Given the description of an element on the screen output the (x, y) to click on. 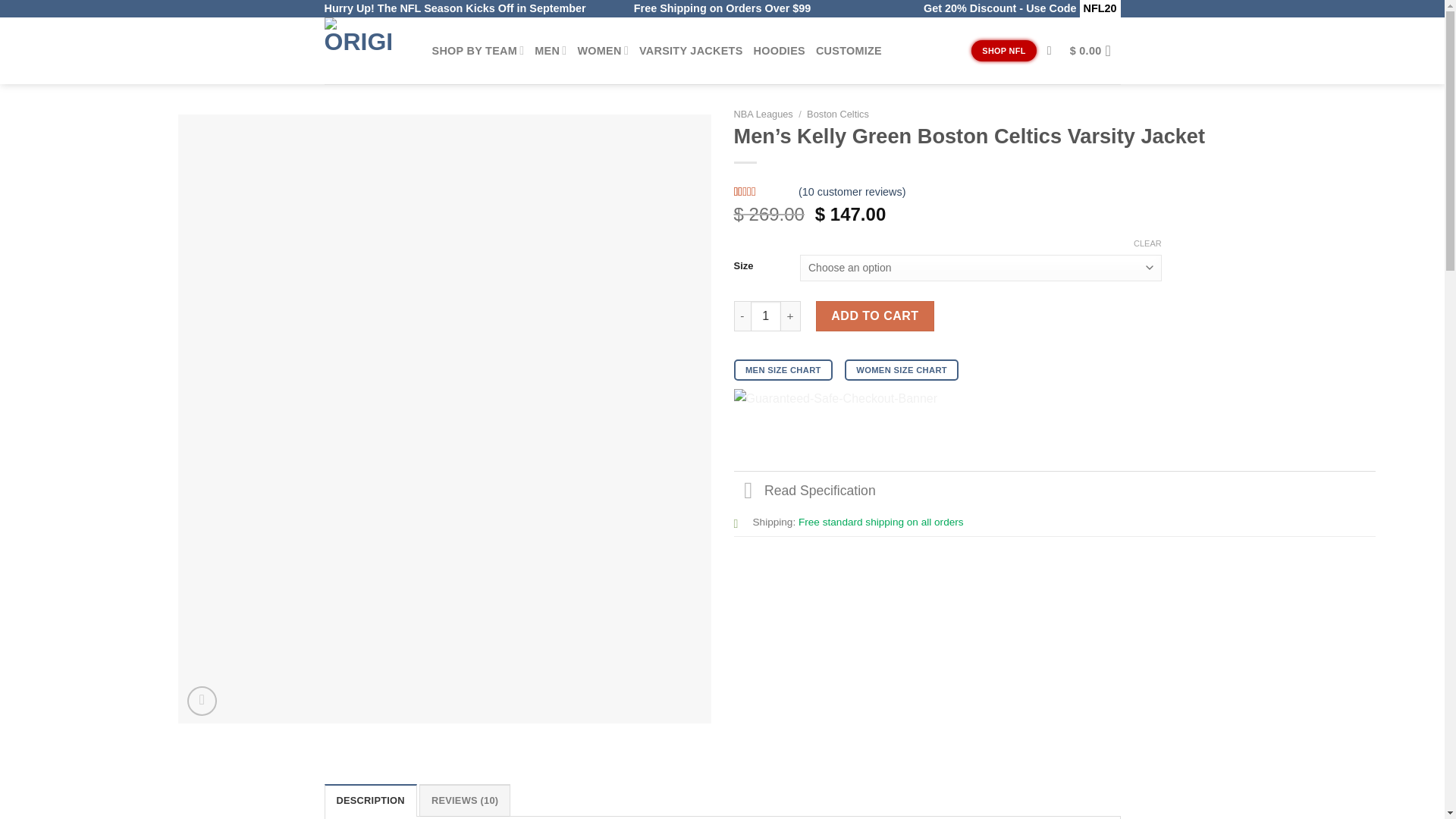
WOMEN (602, 50)
OriginaleatherJackets - Style of Clothing Inventively (366, 50)
Zoom (201, 700)
SHOP BY TEAM (478, 50)
Cart (1095, 50)
Qty (765, 316)
MEN (550, 50)
1 (765, 316)
